Given the description of an element on the screen output the (x, y) to click on. 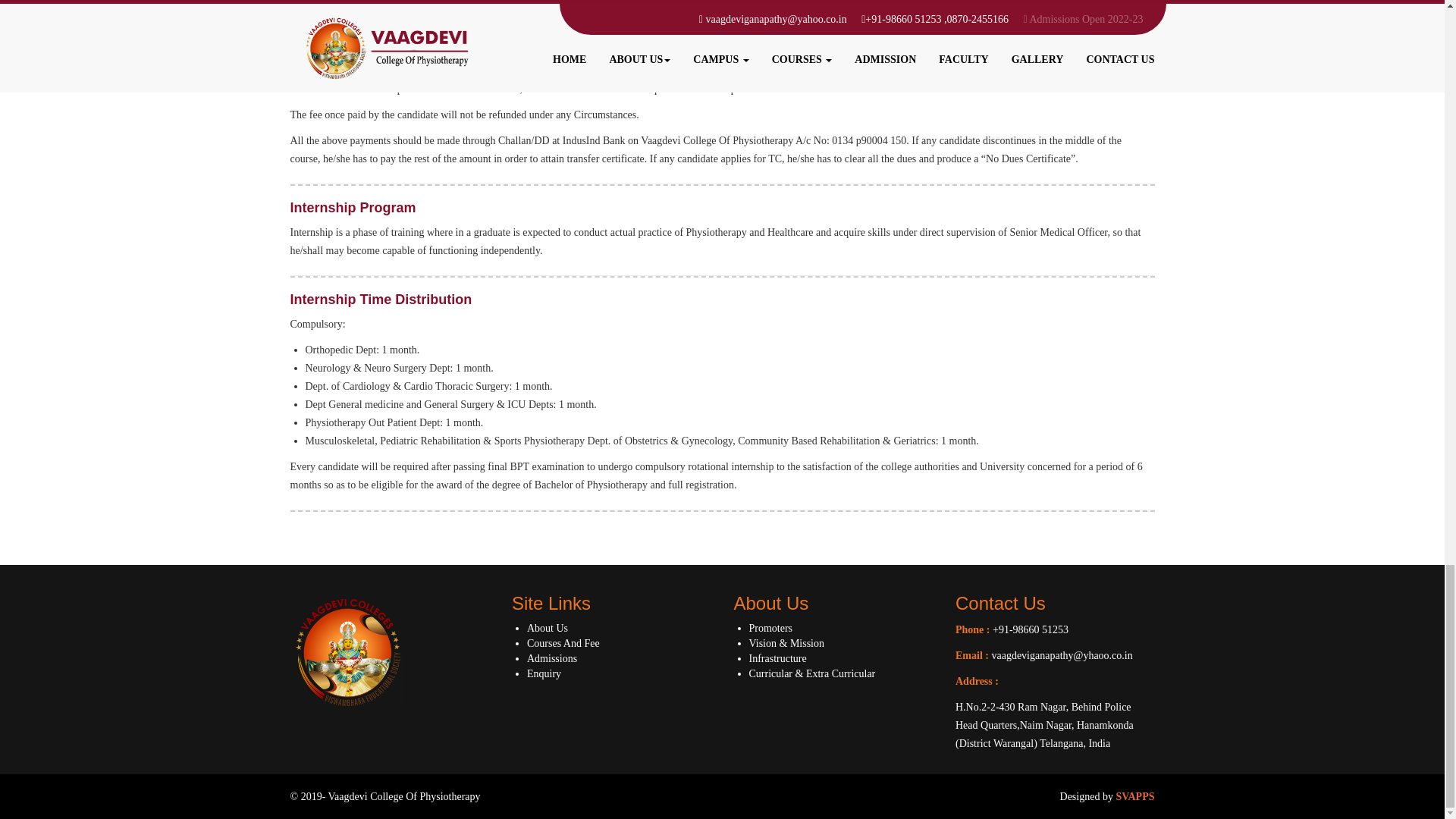
Promoters (771, 627)
Enquiry (543, 673)
About Us (547, 627)
Courses And Fee (563, 643)
SVAPPS (1134, 796)
Infrastructure (777, 658)
Admissions (551, 658)
